Given the description of an element on the screen output the (x, y) to click on. 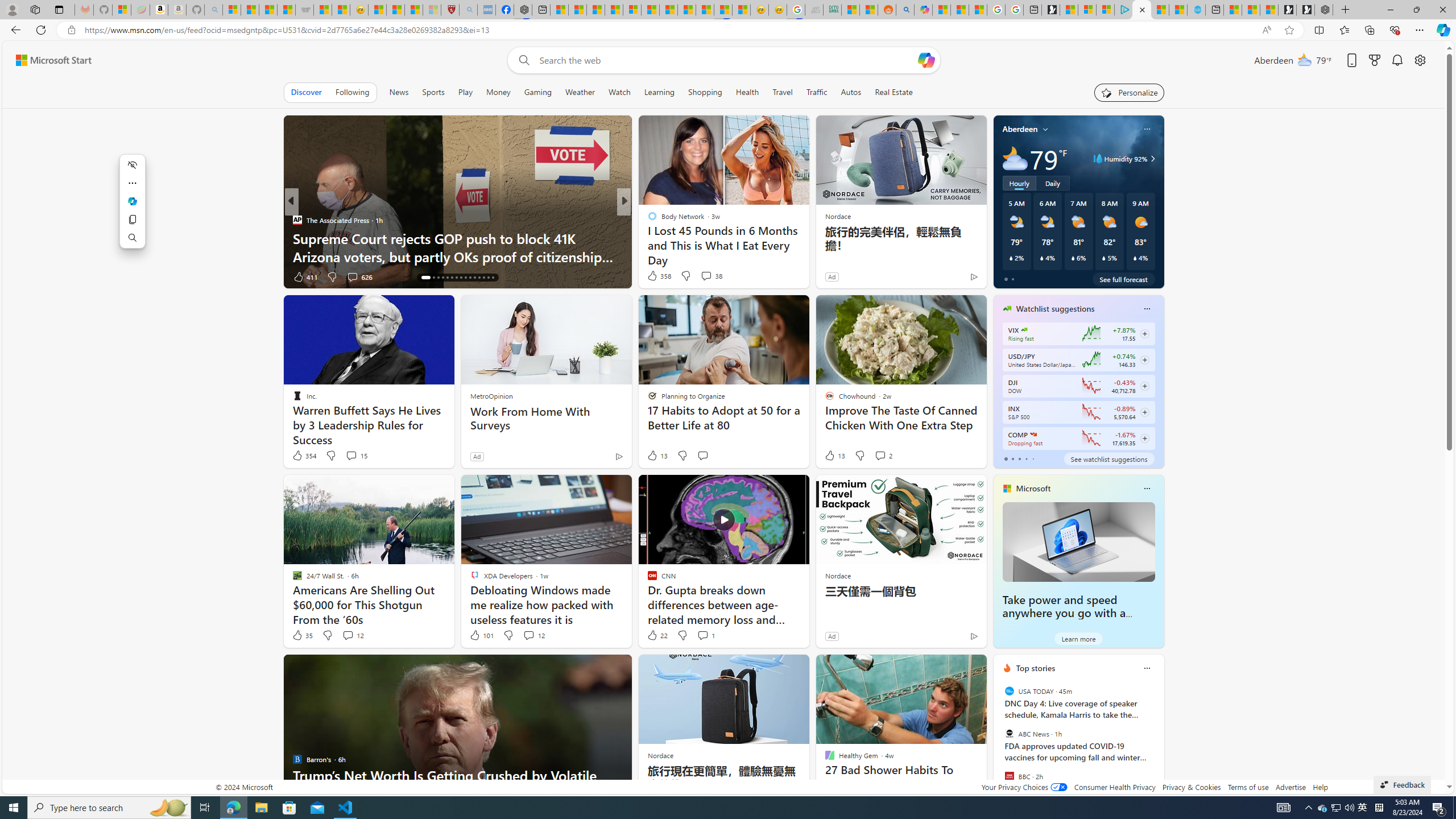
Work From Home With Surveys (546, 418)
AutomationID: tab-27 (478, 277)
View comments 34 Comment (703, 276)
Microsoft Is Bringing Recall Back to Windows 11 (807, 256)
Your Privacy Choices (1024, 786)
More actions (132, 182)
Hide this story (952, 668)
